Given the description of an element on the screen output the (x, y) to click on. 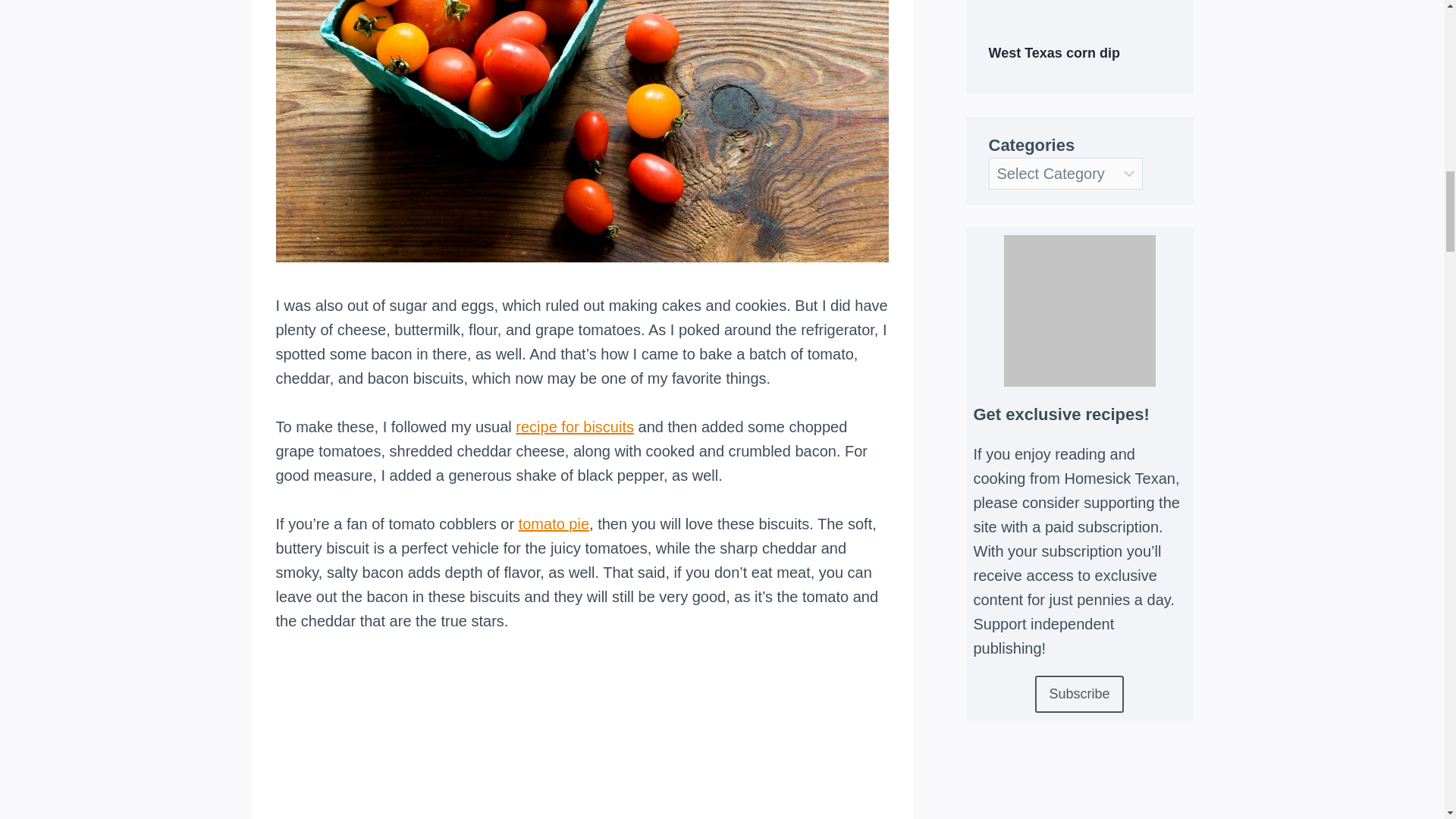
tomato pie (553, 523)
recipe for biscuits (574, 426)
